Given the description of an element on the screen output the (x, y) to click on. 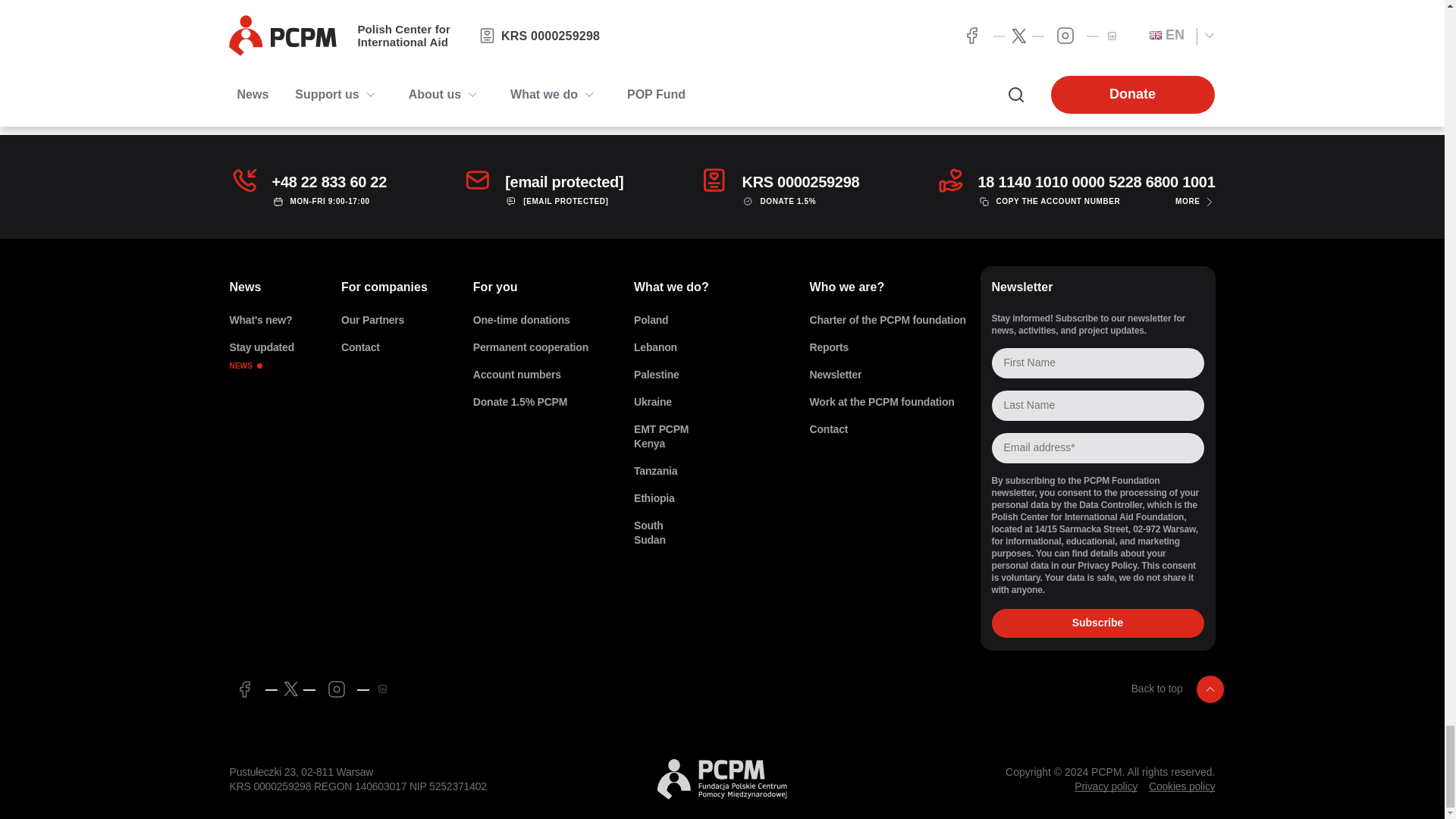
MORE (1194, 201)
What's new? (261, 319)
Subscribe (261, 355)
